Given the description of an element on the screen output the (x, y) to click on. 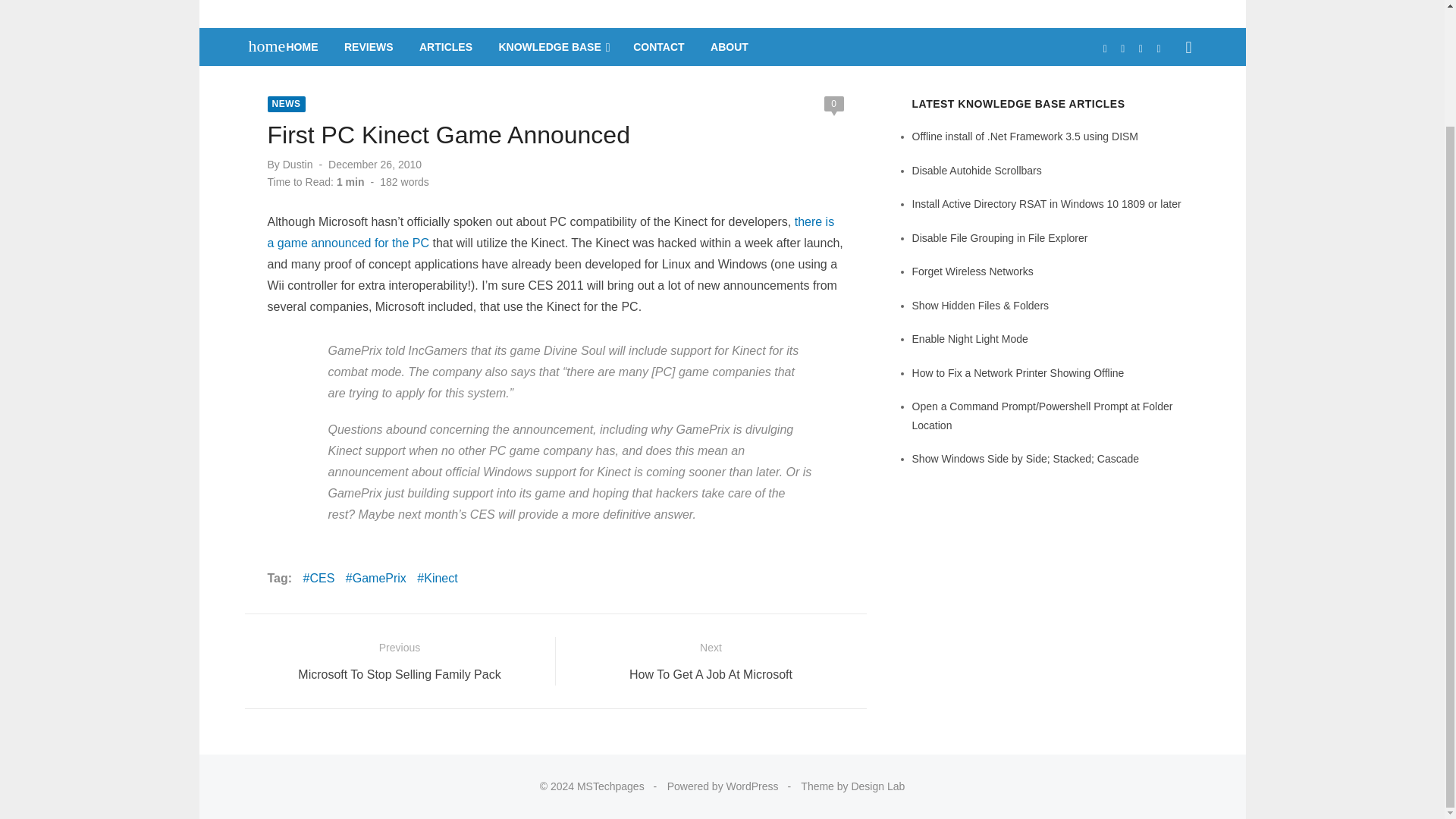
ABOUT (729, 46)
REVIEWS (368, 46)
home (259, 45)
KNOWLEDGE BASE (552, 46)
ARTICLES (446, 46)
CONTACT (658, 46)
HOME (302, 46)
